Given the description of an element on the screen output the (x, y) to click on. 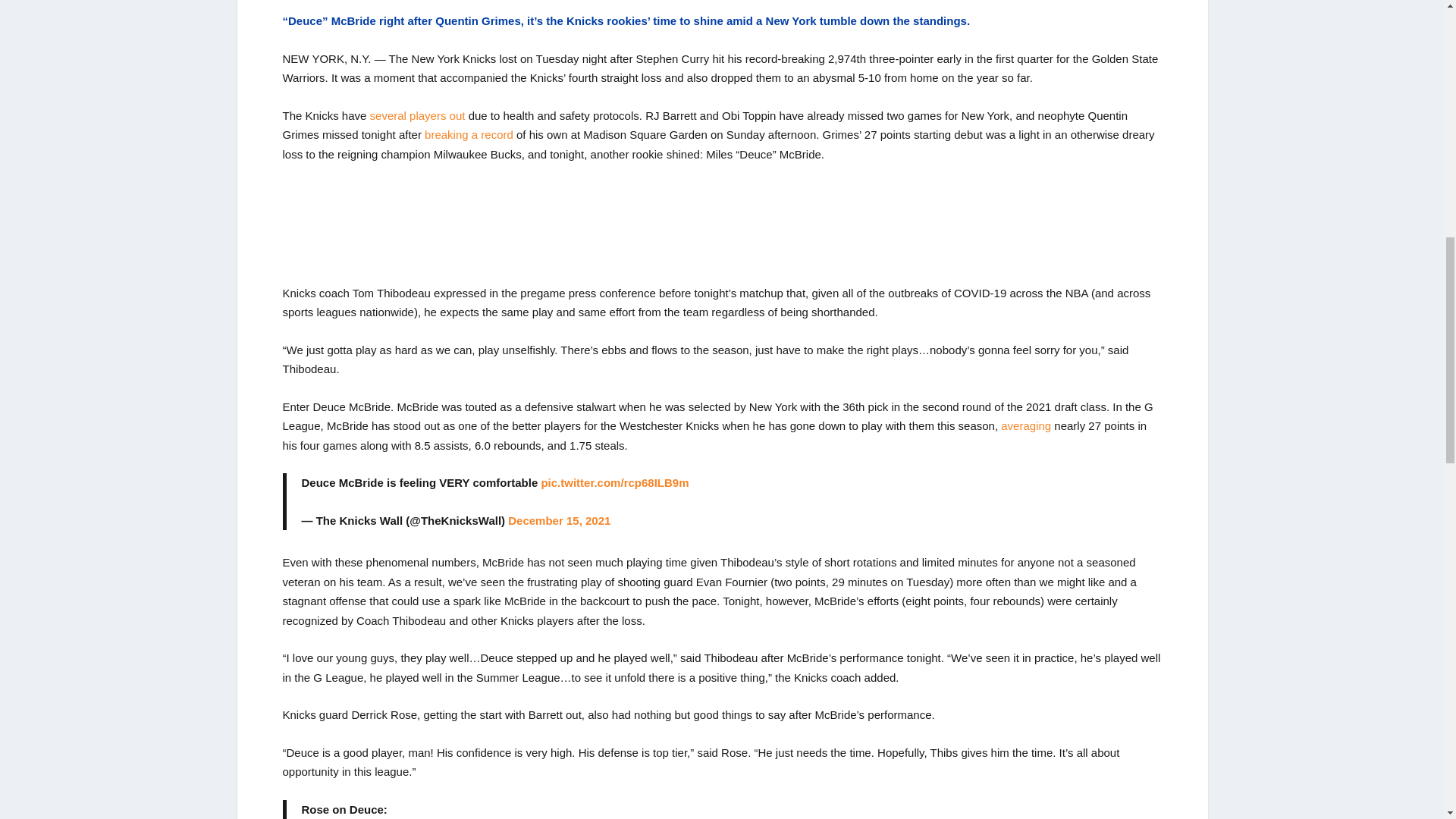
several players out (417, 115)
averaging (1026, 425)
breaking a record (469, 133)
December 15, 2021 (559, 520)
